Given the description of an element on the screen output the (x, y) to click on. 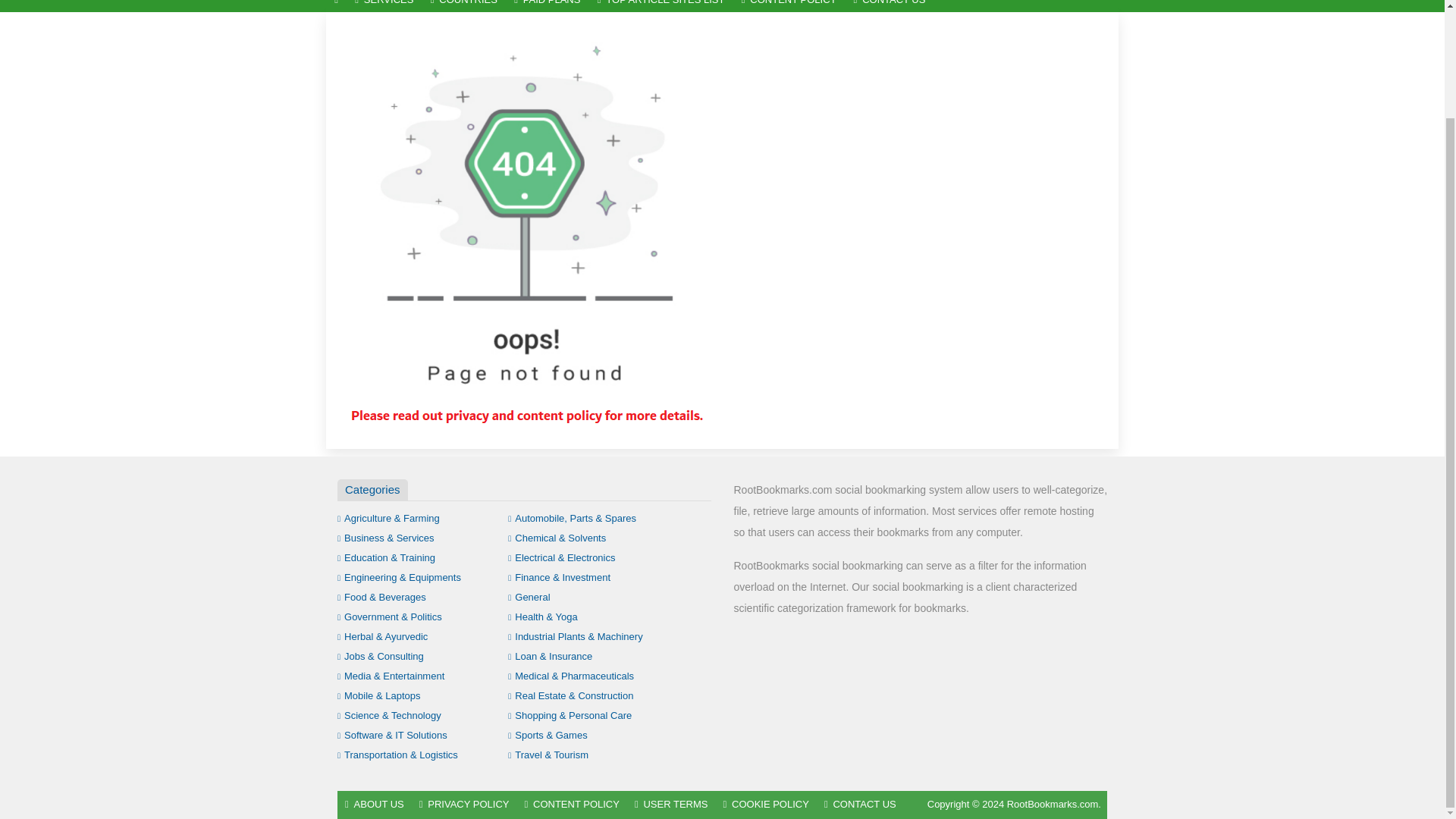
COUNTRIES (463, 6)
TOP ARTICLE SITES LIST (661, 6)
CONTENT POLICY (789, 6)
PAID PLANS (547, 6)
General (529, 596)
CONTACT US (888, 6)
SERVICES (384, 6)
HOME (336, 6)
